Given the description of an element on the screen output the (x, y) to click on. 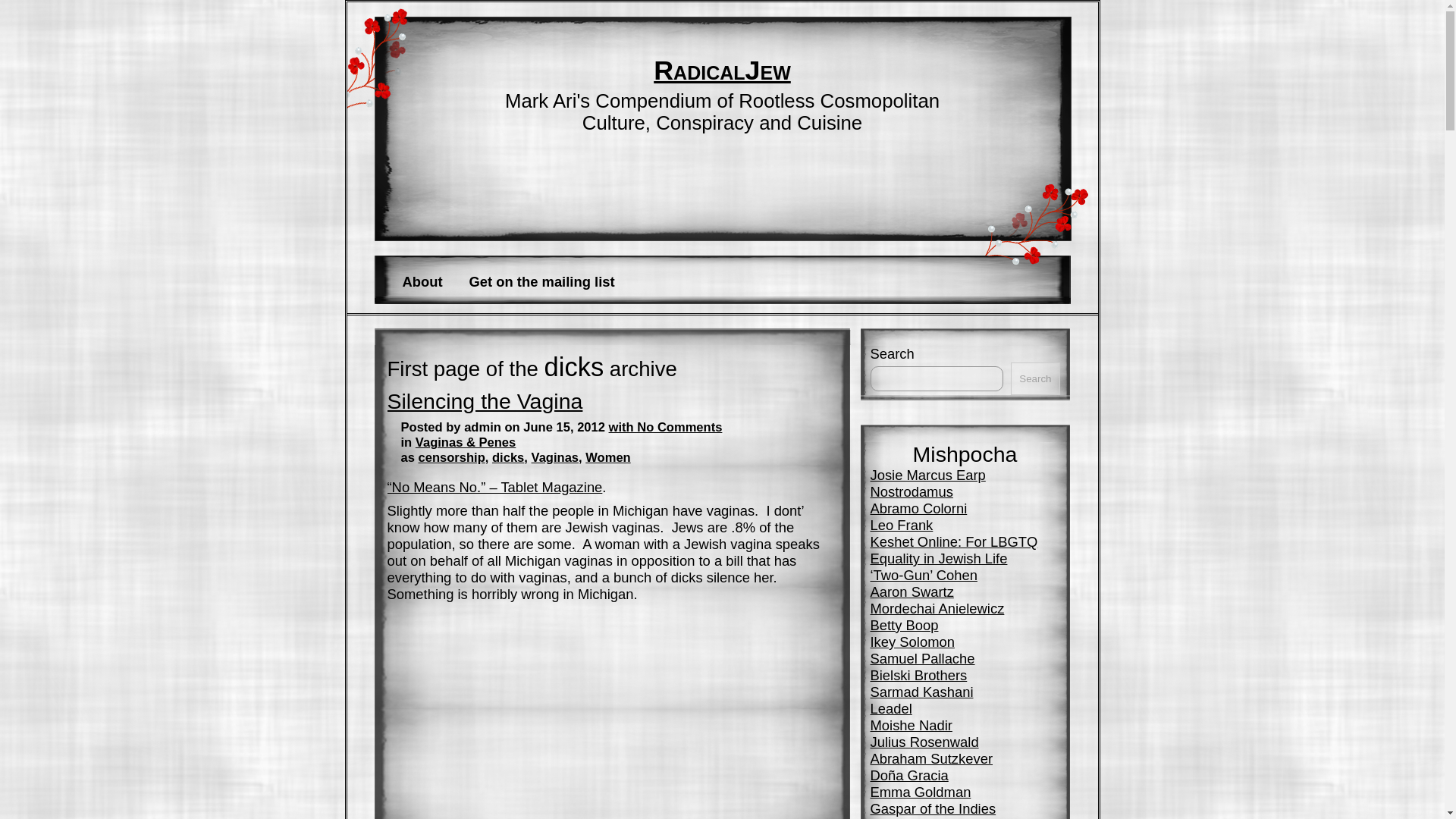
Keshet Online: For LBGTQ Equality in Jewish Life (954, 549)
Gaspar of the Indies (932, 808)
Sarmad Kashani (922, 691)
RadicalJew (721, 70)
RadicalJew (721, 70)
dicks (508, 457)
Josie Marcus Earp (927, 474)
Leo Frank (901, 524)
Aaron Swartz (911, 591)
Samuel Pallache (922, 658)
Abraham Sutzkever (931, 758)
Batwoman (903, 818)
Ikey Solomon (912, 641)
Nostrodamus (911, 491)
About (422, 281)
